Given the description of an element on the screen output the (x, y) to click on. 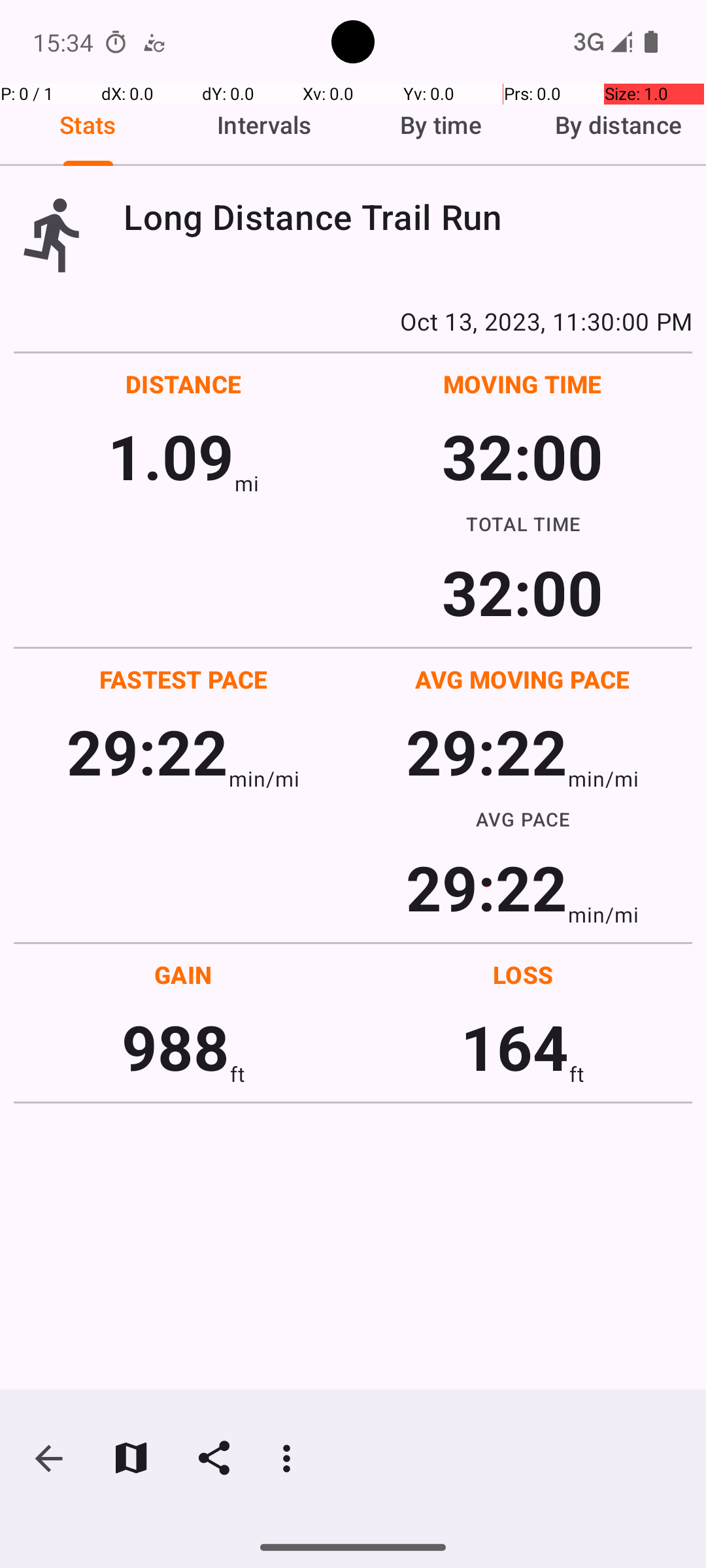
Long Distance Trail Run Element type: android.widget.TextView (407, 216)
Oct 13, 2023, 11:30:00 PM Element type: android.widget.TextView (352, 320)
1.09 Element type: android.widget.TextView (170, 455)
32:00 Element type: android.widget.TextView (522, 455)
29:22 Element type: android.widget.TextView (147, 750)
988 Element type: android.widget.TextView (175, 1045)
164 Element type: android.widget.TextView (514, 1045)
